Given the description of an element on the screen output the (x, y) to click on. 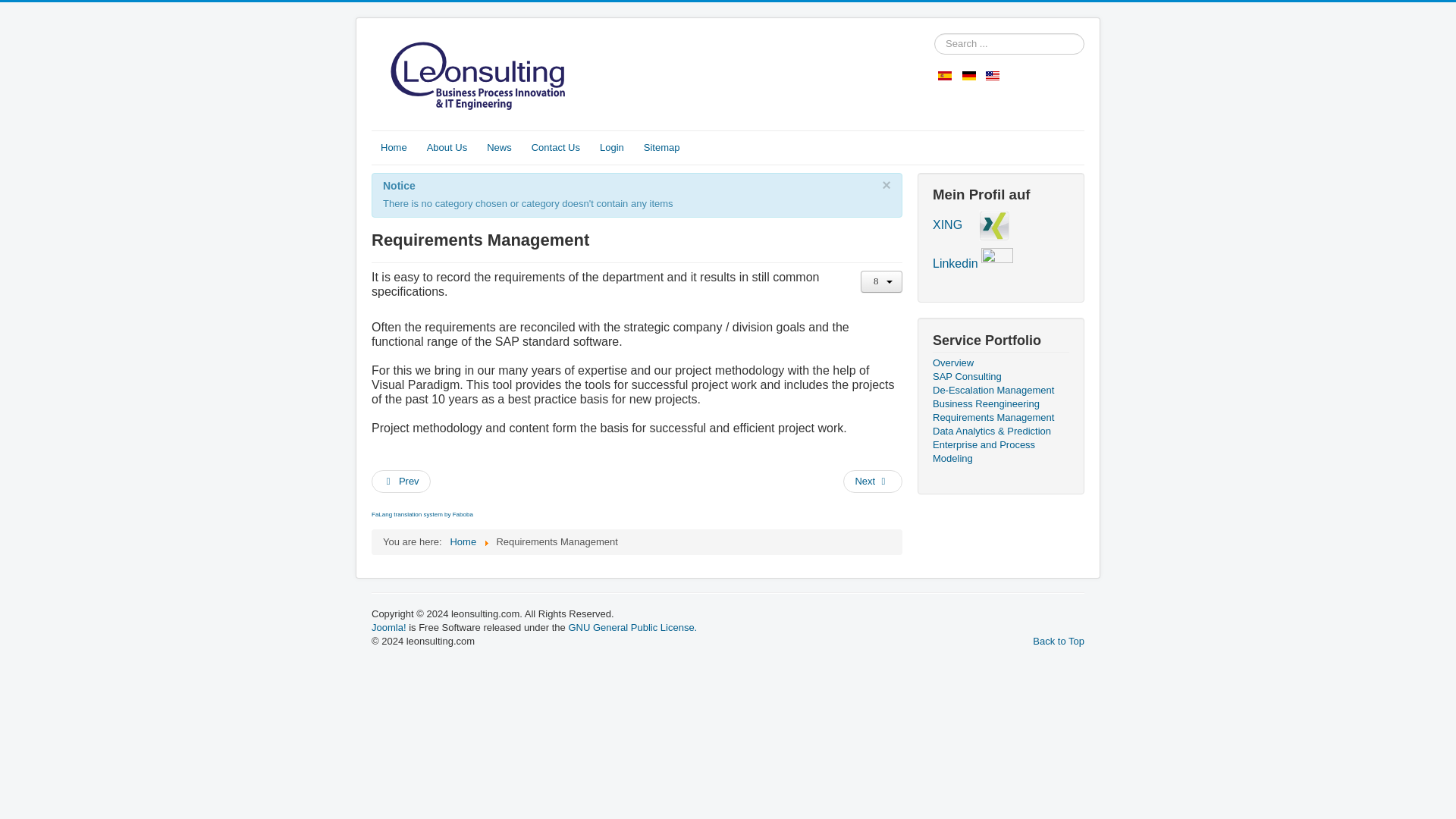
Login (612, 147)
Overview (1000, 363)
XING (947, 224)
Enterprise and Process Modeling (1000, 452)
Home (393, 147)
Contact Us (555, 147)
About Us (446, 147)
Linkedin (955, 263)
News (499, 147)
Home (462, 541)
